Given the description of an element on the screen output the (x, y) to click on. 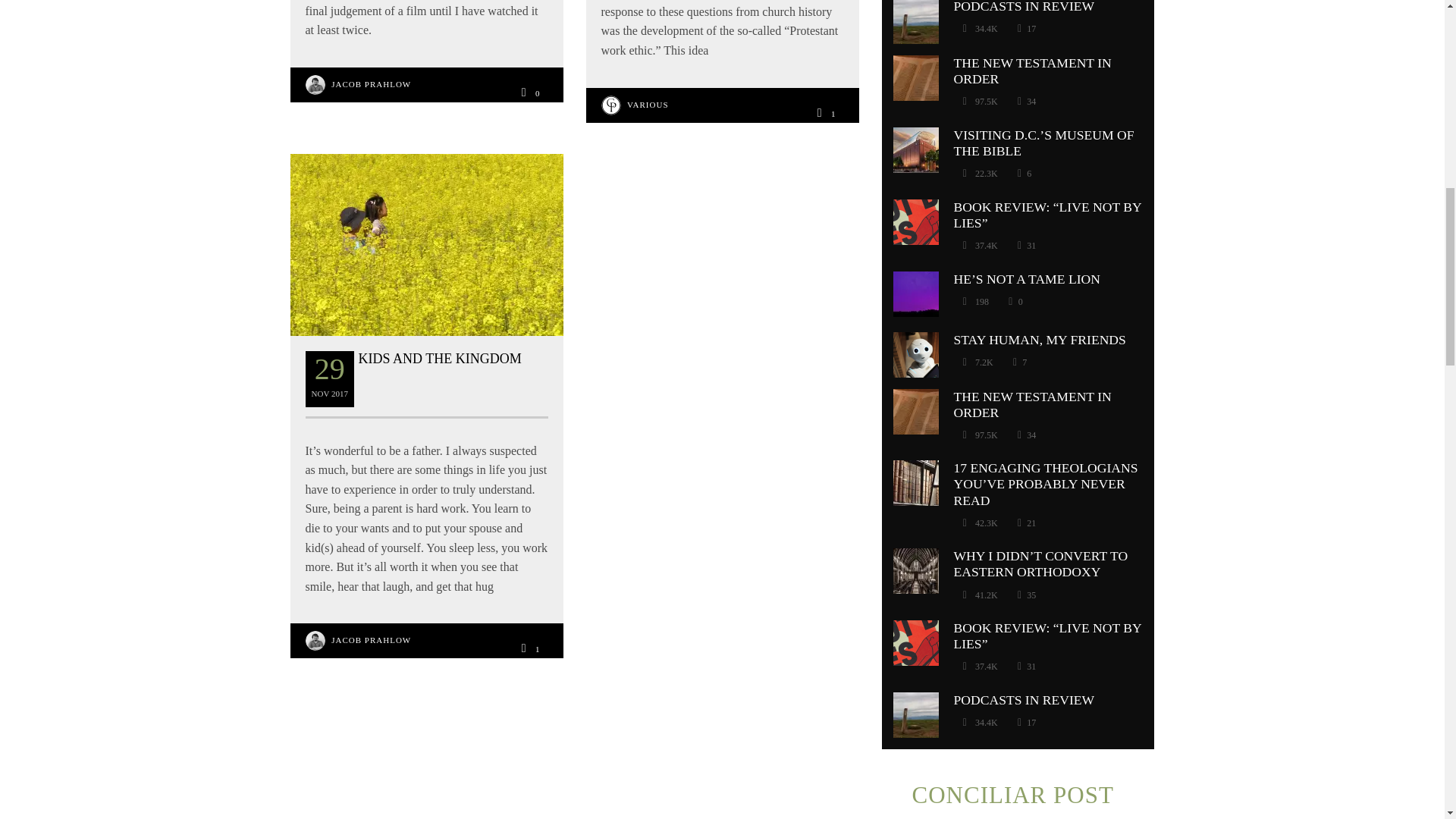
Permalink to Kids and the Kingdom (439, 358)
View all posts by Various (647, 103)
View all posts by Jacob Prahlow (370, 83)
View all posts by Jacob Prahlow (370, 639)
